Given the description of an element on the screen output the (x, y) to click on. 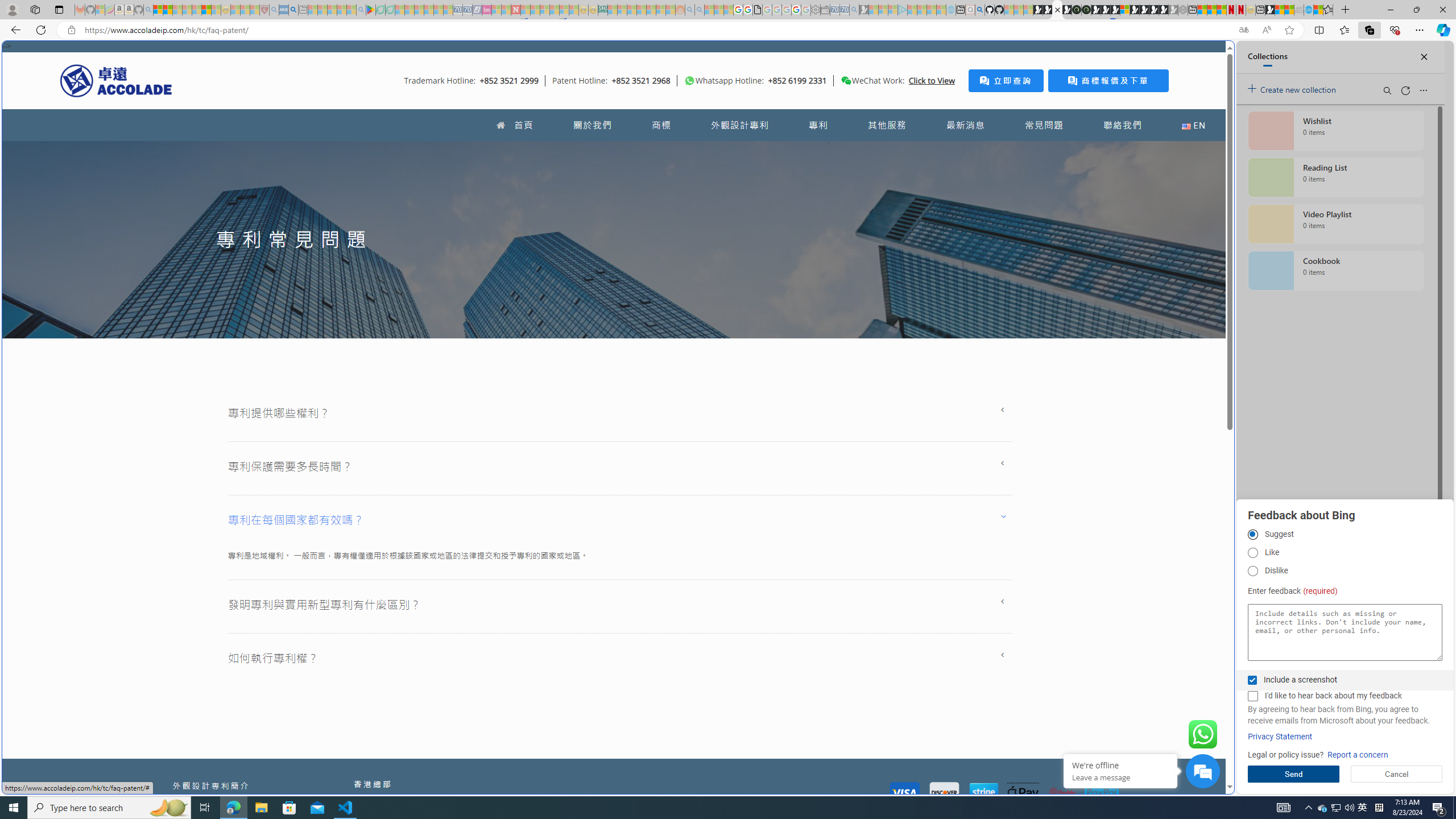
Play Zoo Boom in your browser | Games from Microsoft Start (1047, 9)
Cancel (1396, 773)
Play Cave FRVR in your browser | Games from Microsoft Start (1105, 9)
Accolade IP HK Logo (116, 80)
